Given the description of an element on the screen output the (x, y) to click on. 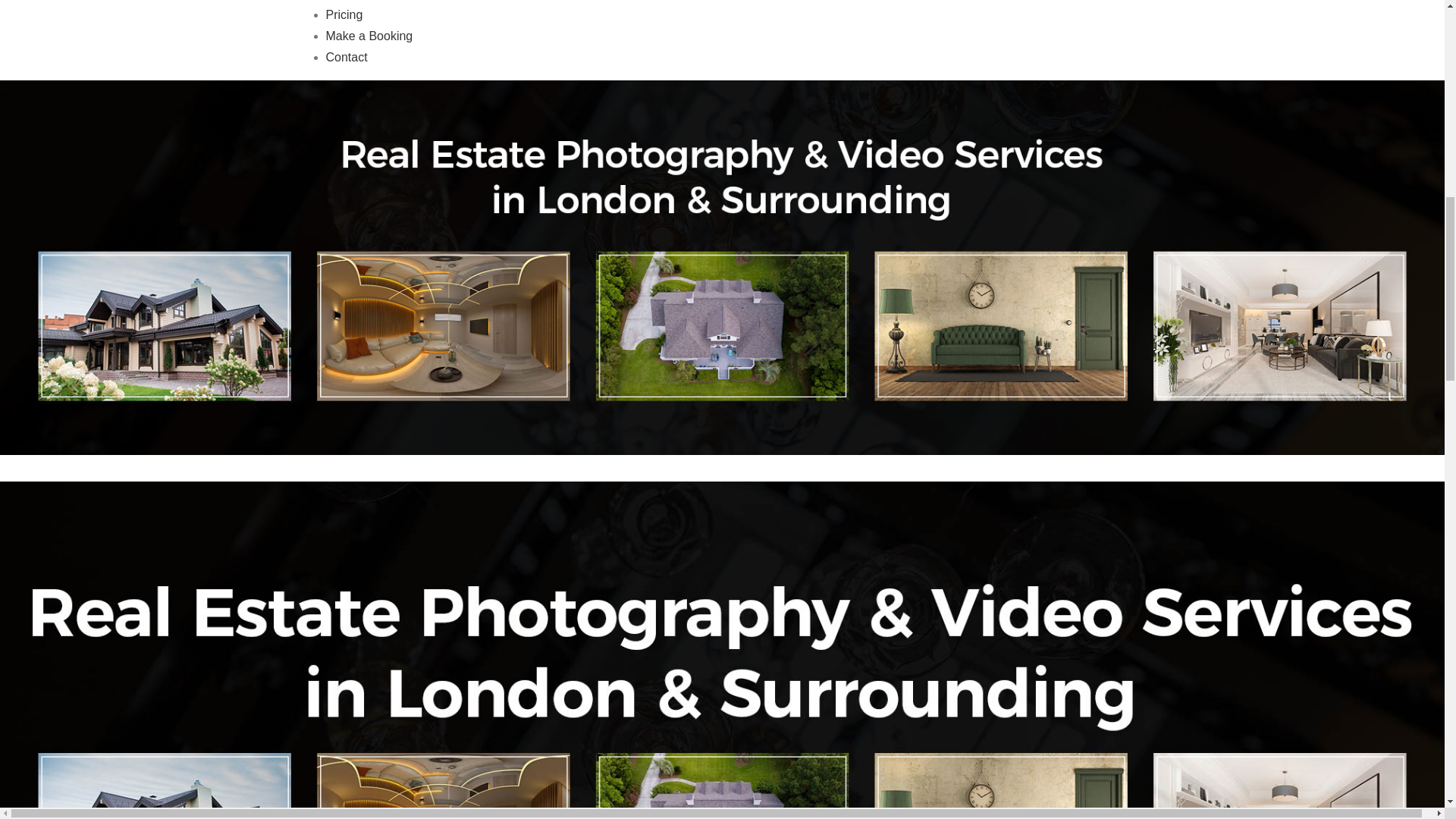
Make a Booking (369, 35)
Contact (347, 56)
Pricing (344, 14)
